Given the description of an element on the screen output the (x, y) to click on. 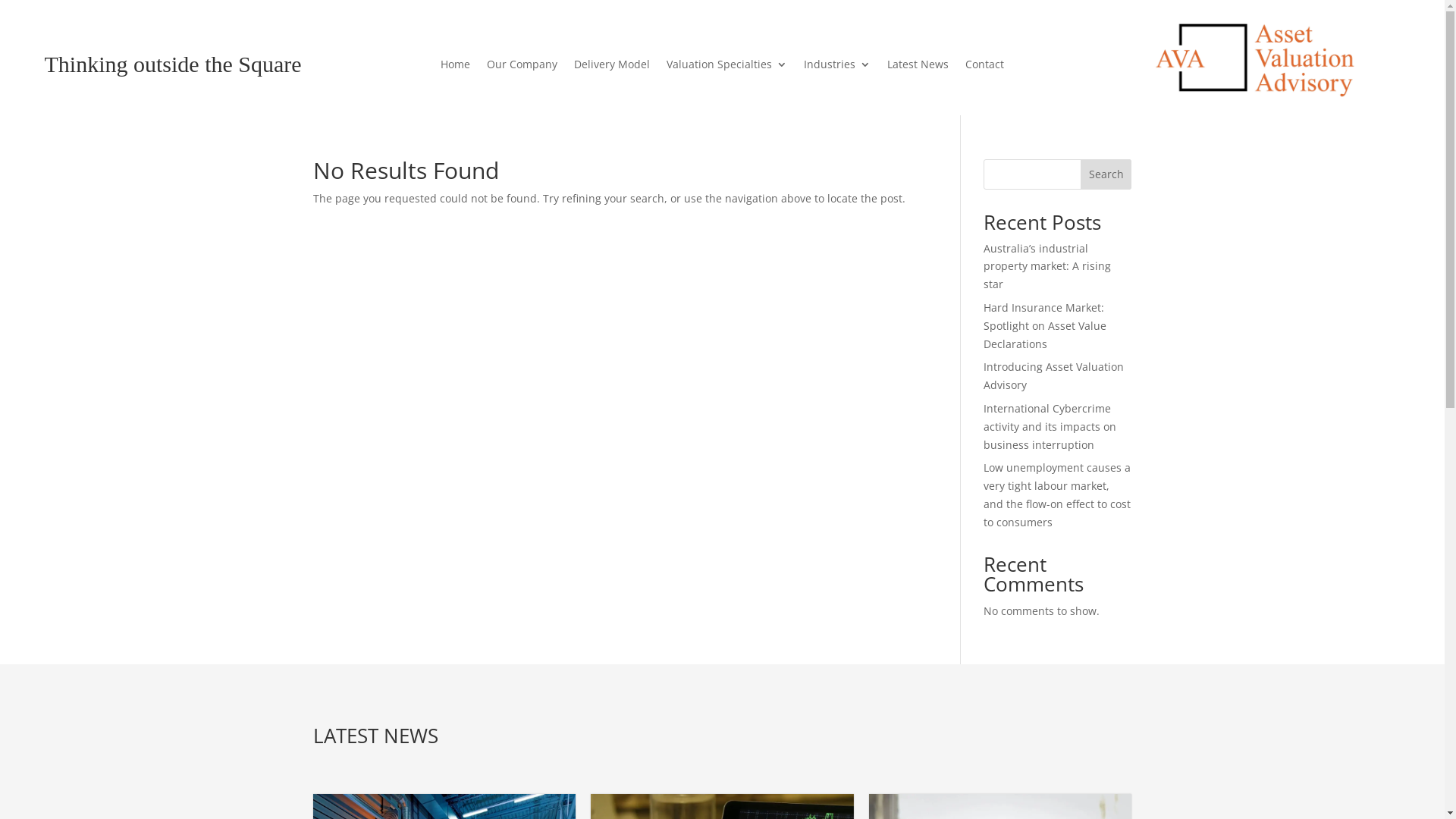
Contact Element type: text (984, 67)
Home Element type: text (455, 67)
Our Company Element type: text (521, 67)
Introducing Asset Valuation Advisory Element type: text (1053, 375)
Delivery Model Element type: text (611, 67)
AVA Asset Valuation Advisory Logo 2023 - JPG RGB Element type: hover (1255, 57)
Valuation Specialties Element type: text (726, 67)
Hard Insurance Market: Spotlight on Asset Value Declarations Element type: text (1044, 325)
Search Element type: text (1106, 174)
Latest News Element type: text (917, 67)
Industries Element type: text (836, 67)
